Given the description of an element on the screen output the (x, y) to click on. 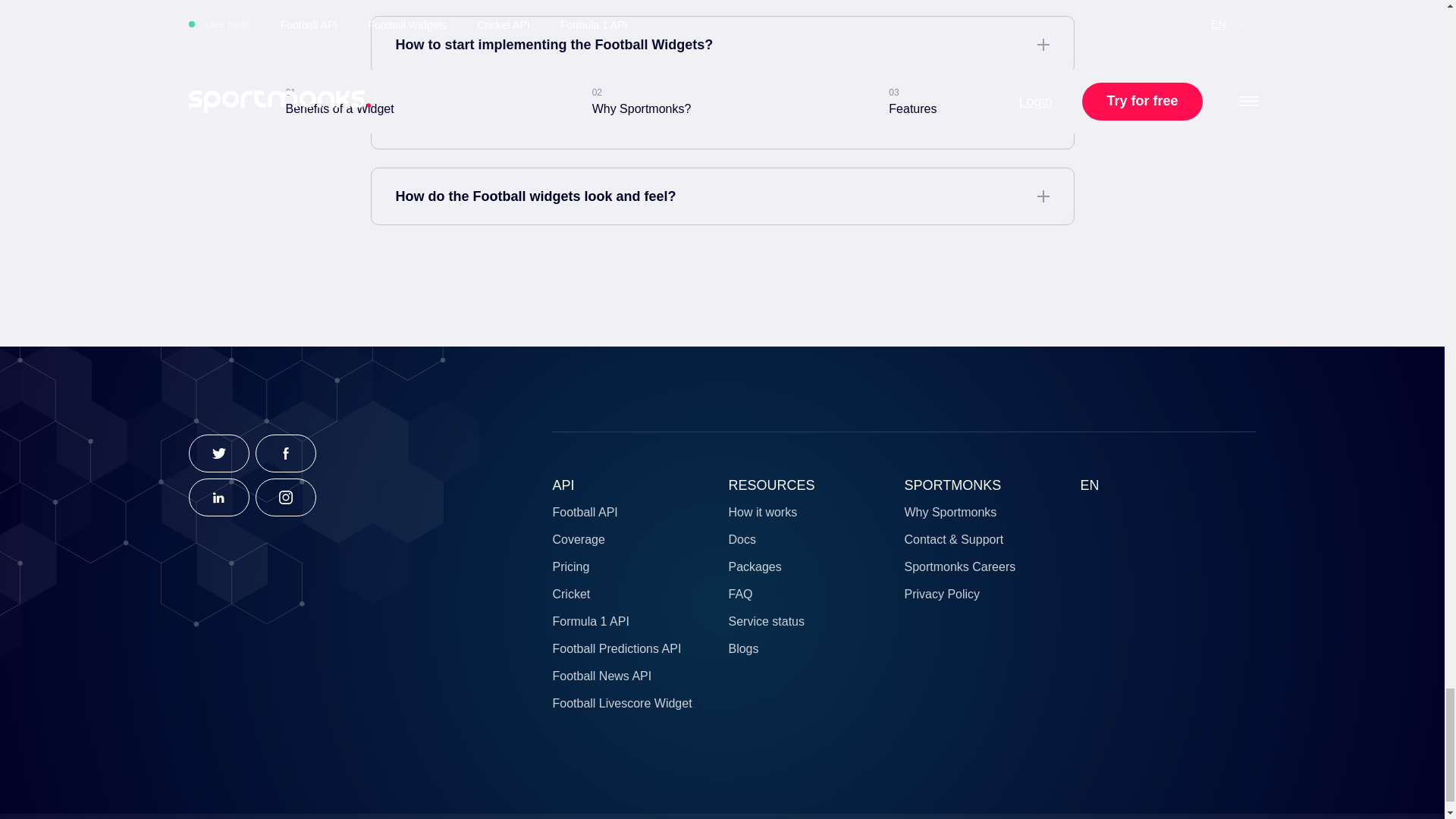
EN (1089, 485)
